Given the description of an element on the screen output the (x, y) to click on. 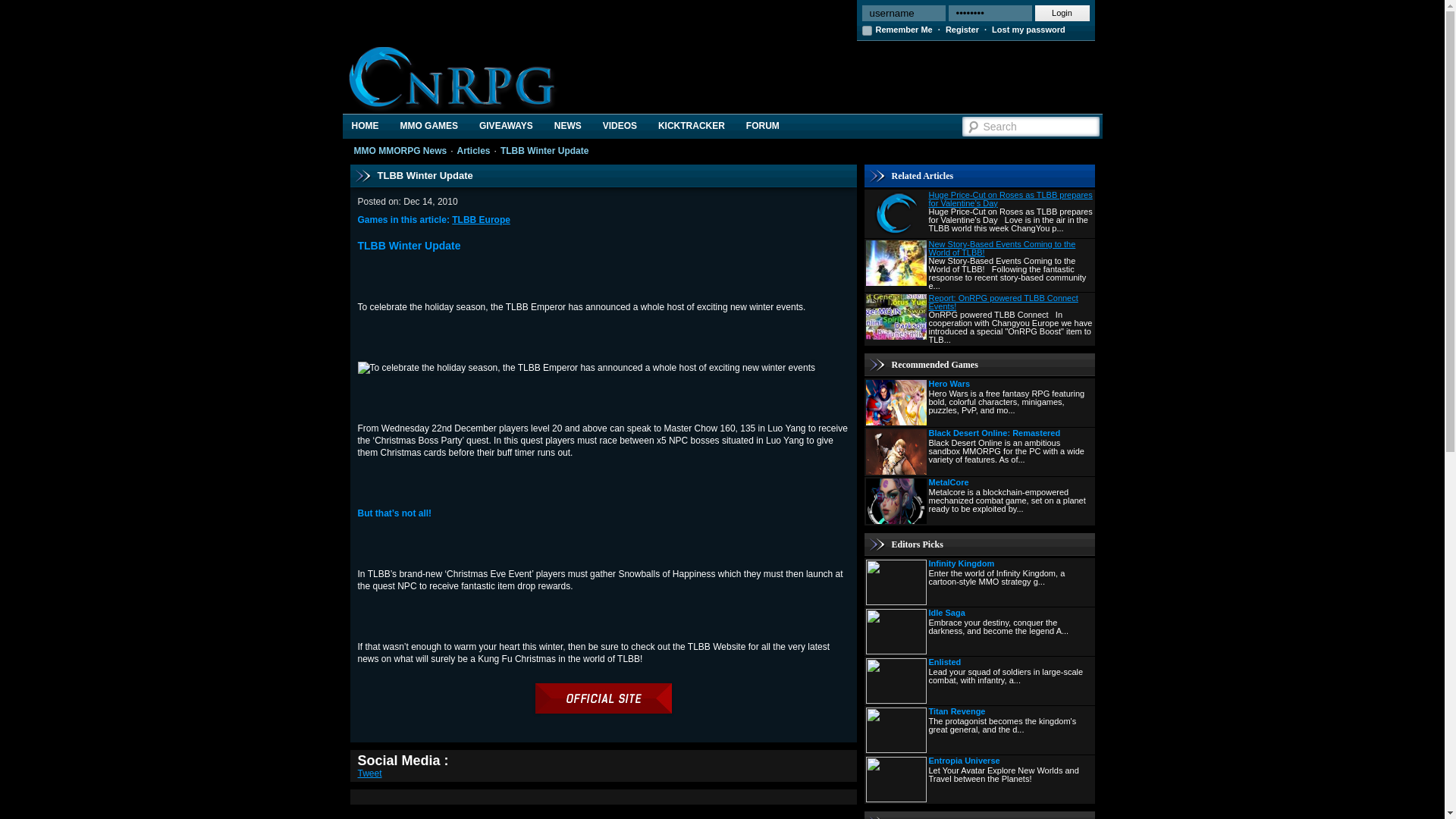
OnRPG Homepage (365, 125)
GIVEAWAYS (505, 125)
Visit the Official Site for TLBB Europe (603, 710)
Articles (473, 150)
MMO GAMES (428, 125)
MMO MMORPG News (399, 150)
KICKTRACKER (691, 125)
NEWS (567, 125)
Go to TLBB Winter Update. (544, 150)
VIDEOS (620, 125)
